Given the description of an element on the screen output the (x, y) to click on. 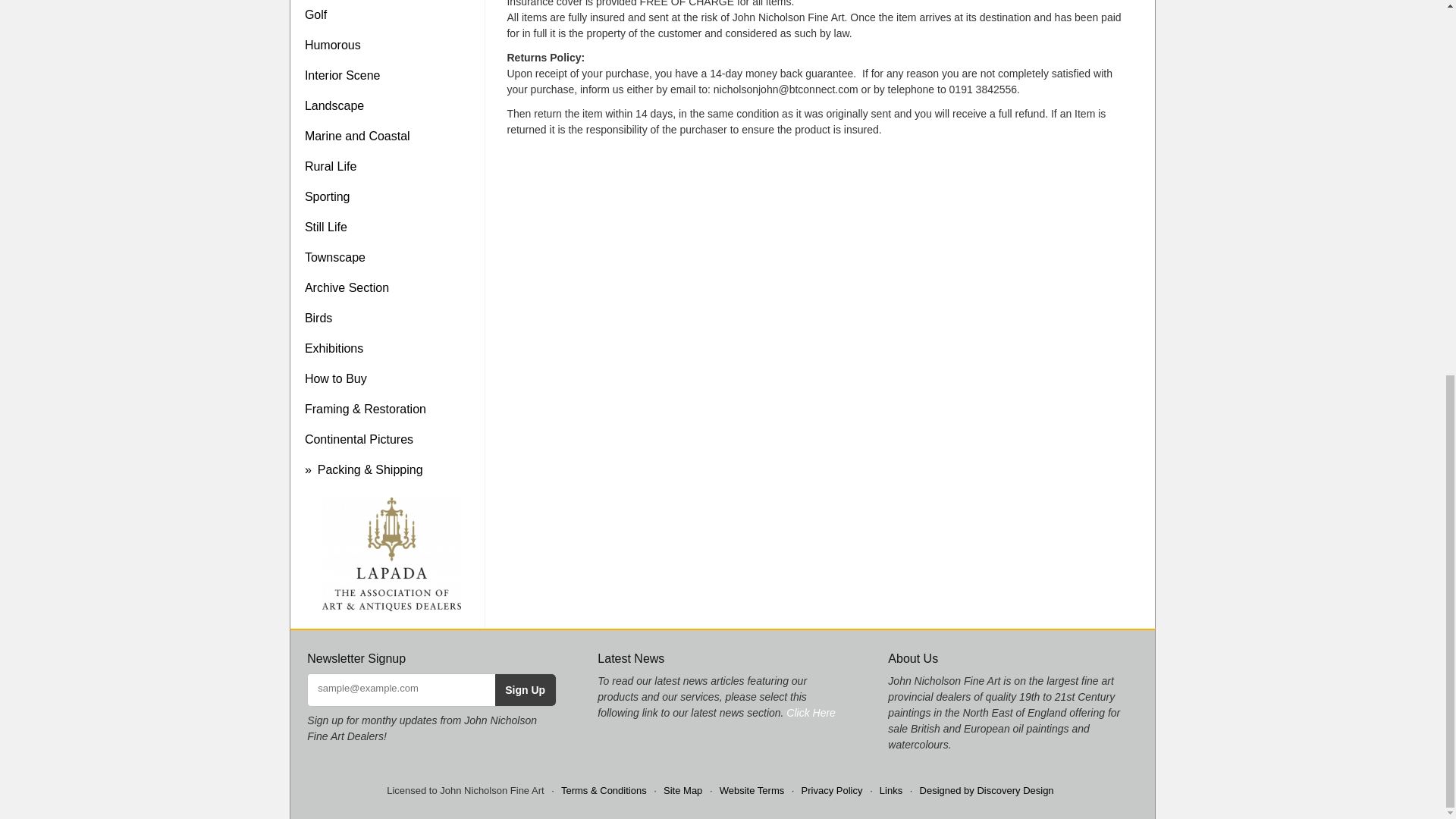
Townscape (391, 257)
Humorous (391, 45)
Birds (391, 318)
Archive Section (391, 287)
Interior Scene (391, 75)
Golf (391, 15)
How to Buy (391, 378)
Rural Life (391, 166)
Landscape (391, 105)
Exhibitions (391, 348)
Web Links (890, 790)
Sporting (391, 196)
Still Life (391, 227)
Marine and Coastal (391, 136)
